Given the description of an element on the screen output the (x, y) to click on. 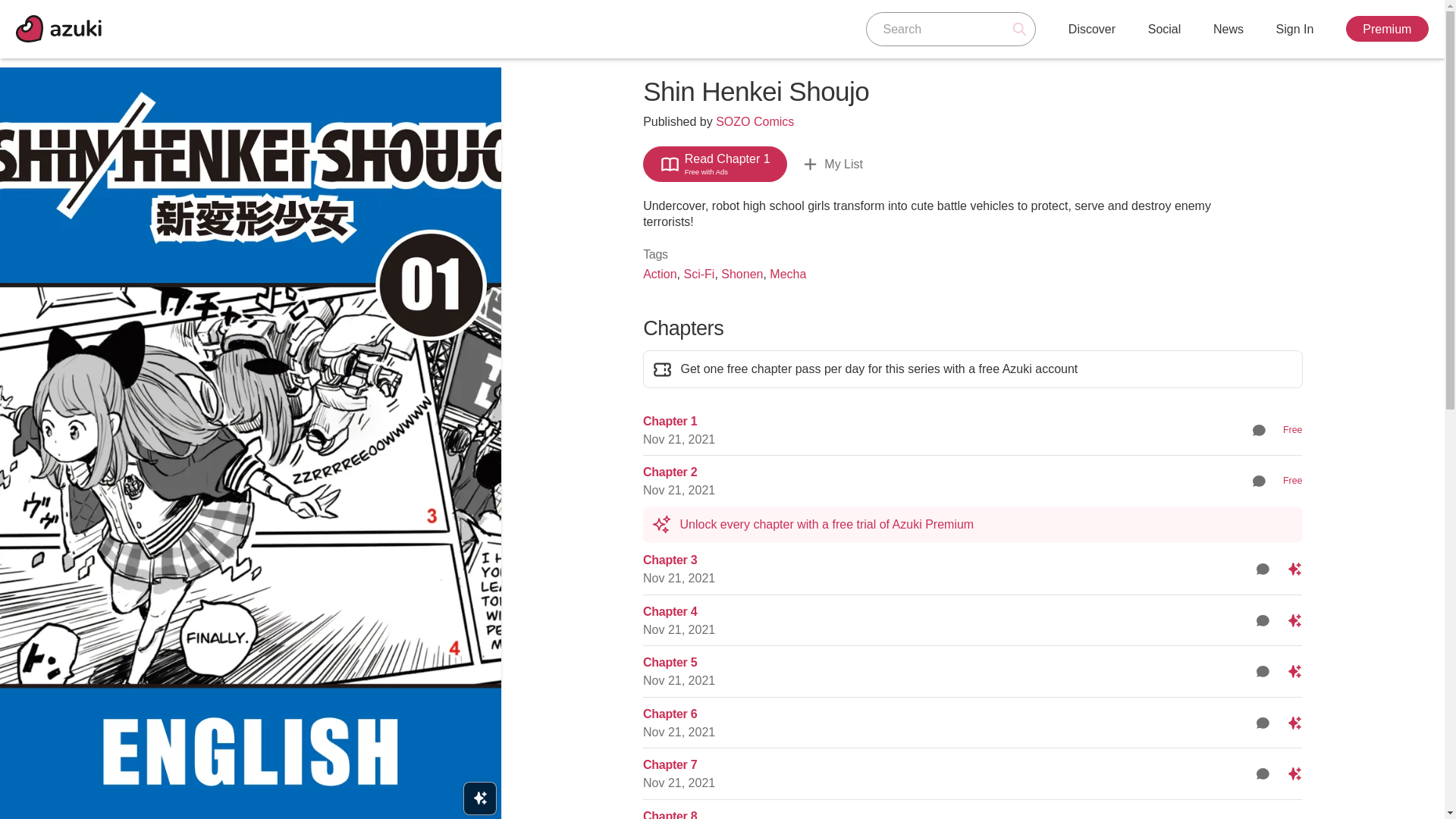
Social (1164, 29)
Comments (1258, 429)
Comments (1263, 619)
Comments (1258, 429)
Sci-Fi (698, 273)
free Azuki account (1028, 368)
Action (660, 273)
Comments (1263, 619)
Comments (1258, 480)
Chapter 3 (670, 559)
